Given the description of an element on the screen output the (x, y) to click on. 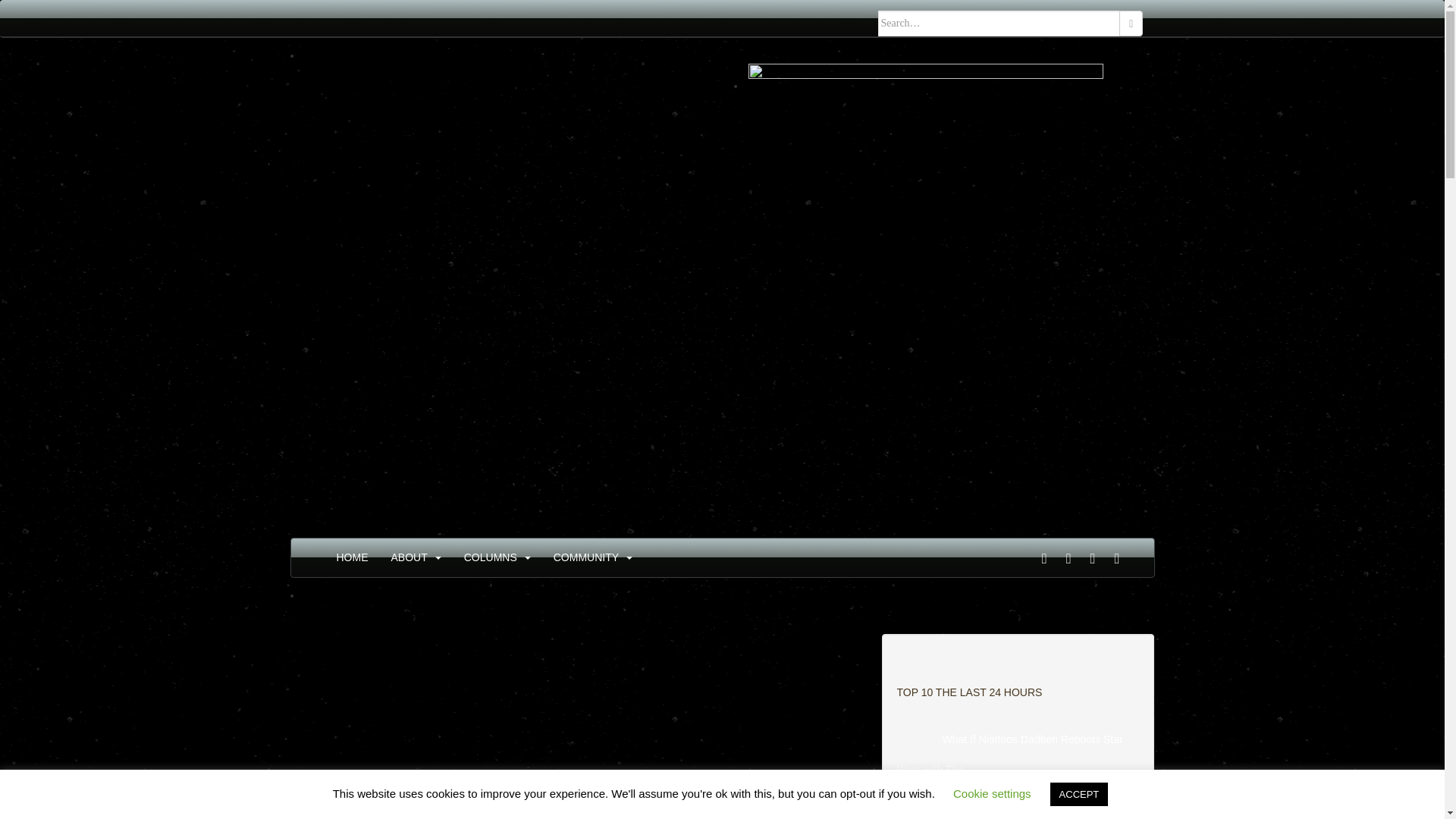
COMMUNITY (585, 557)
COLUMNS (490, 557)
Search for: (999, 23)
Search (1130, 23)
ABOUT (409, 557)
HOME (352, 557)
